Given the description of an element on the screen output the (x, y) to click on. 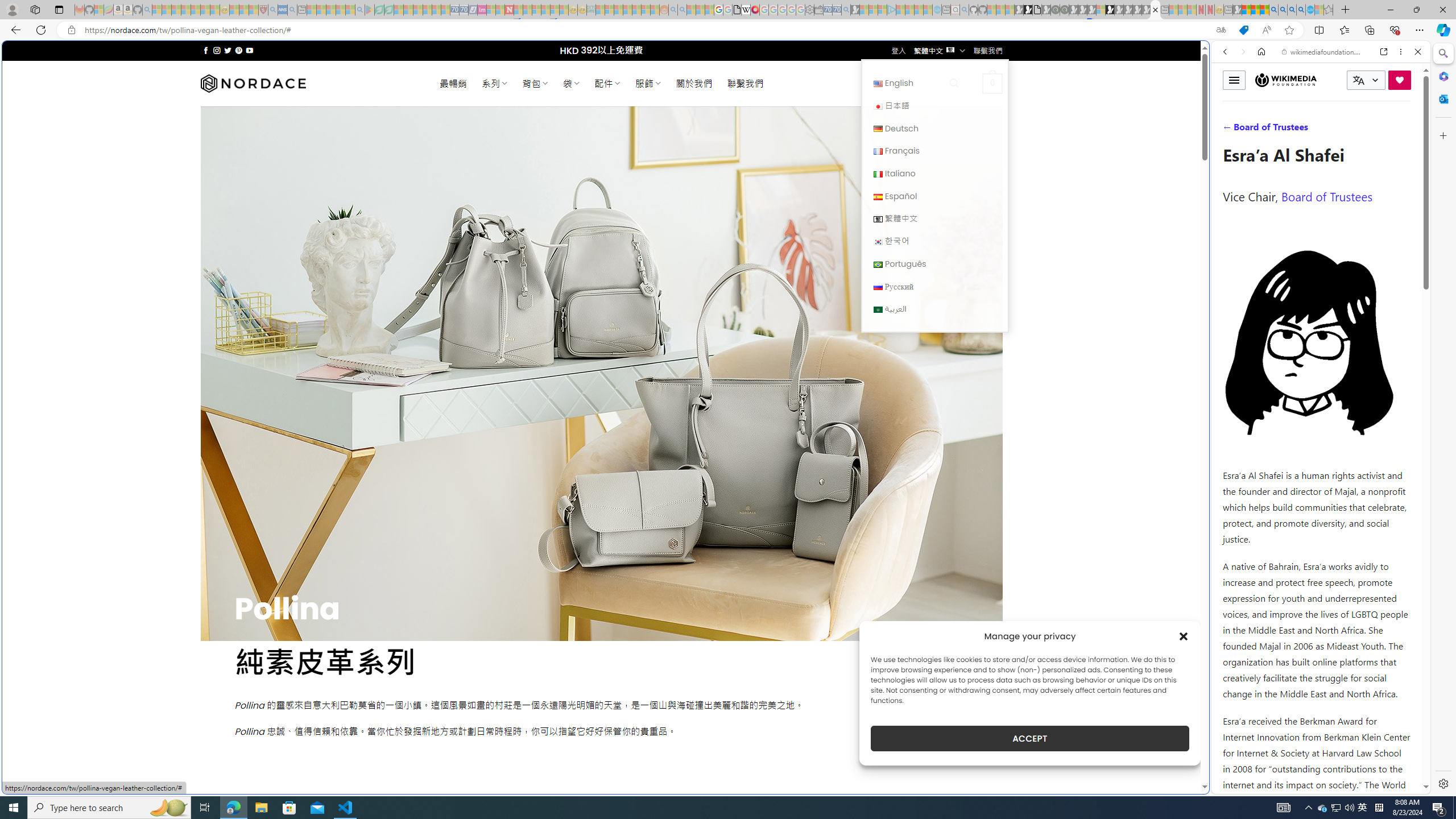
Bing AI - Search (1272, 9)
Deutsch (877, 128)
utah sues federal government - Search - Sleeping (291, 9)
This site has coupons! Shopping in Microsoft Edge, 4 (1243, 29)
Follow on Twitter (227, 50)
ACCEPT (1029, 738)
